Given the description of an element on the screen output the (x, y) to click on. 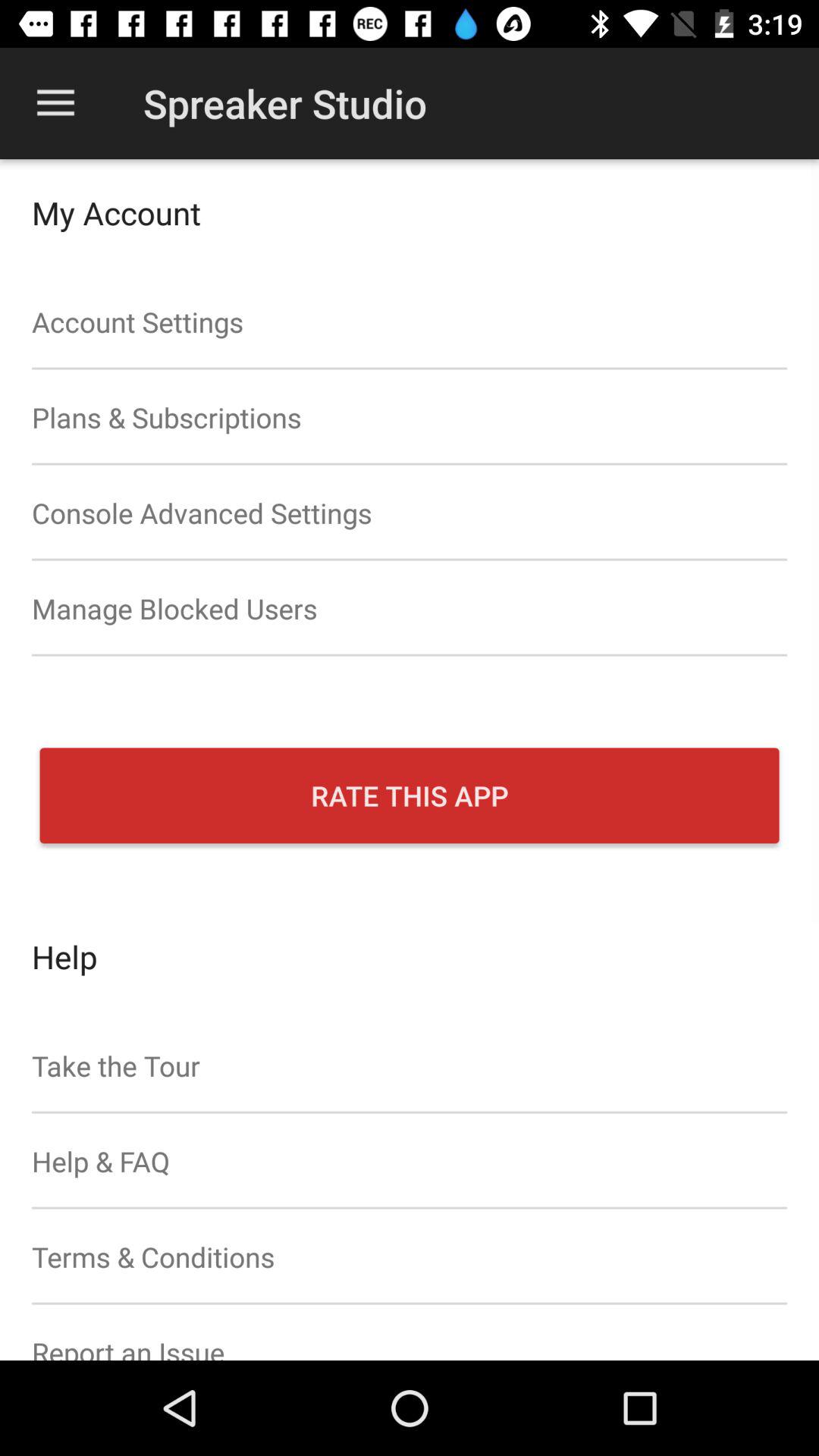
click the terms & conditions icon (409, 1256)
